Given the description of an element on the screen output the (x, y) to click on. 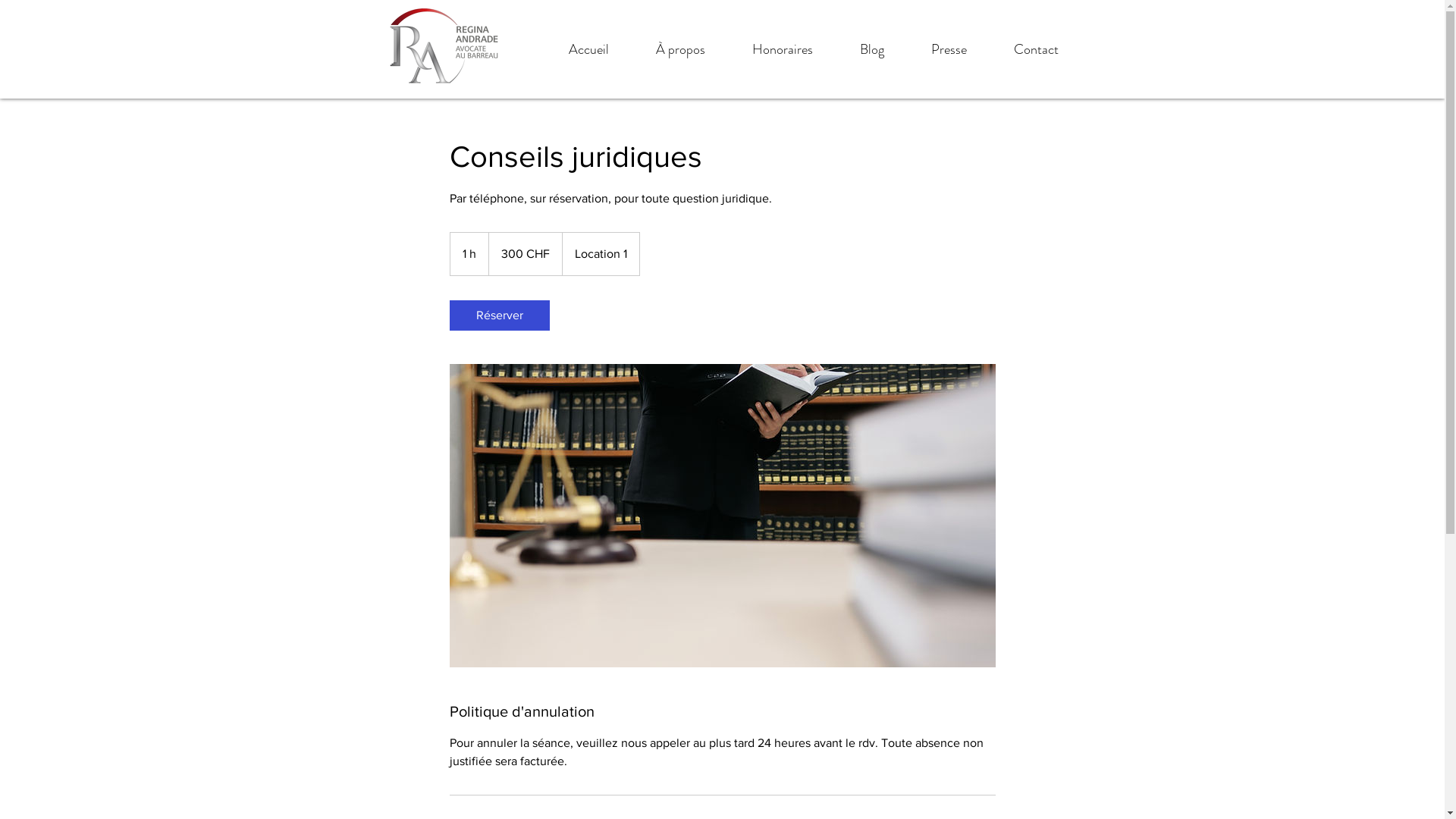
Presse Element type: text (947, 49)
Contact Element type: text (1036, 49)
Blog Element type: text (870, 49)
Honoraires Element type: text (781, 49)
Accueil Element type: text (587, 49)
